Given the description of an element on the screen output the (x, y) to click on. 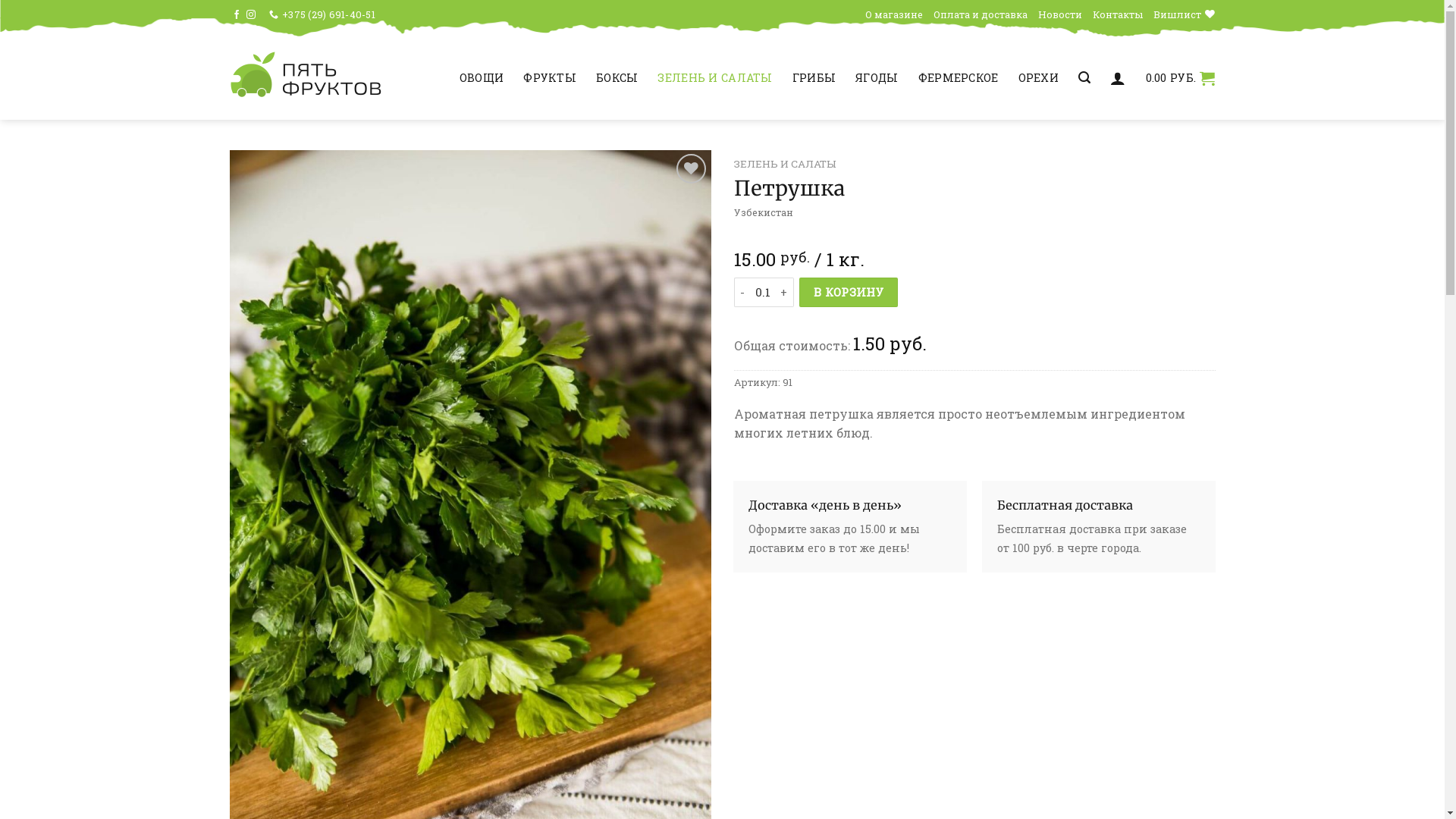
+375 (29) 691-40-51 Element type: text (322, 14)
Skip to content Element type: text (0, 0)
